Given the description of an element on the screen output the (x, y) to click on. 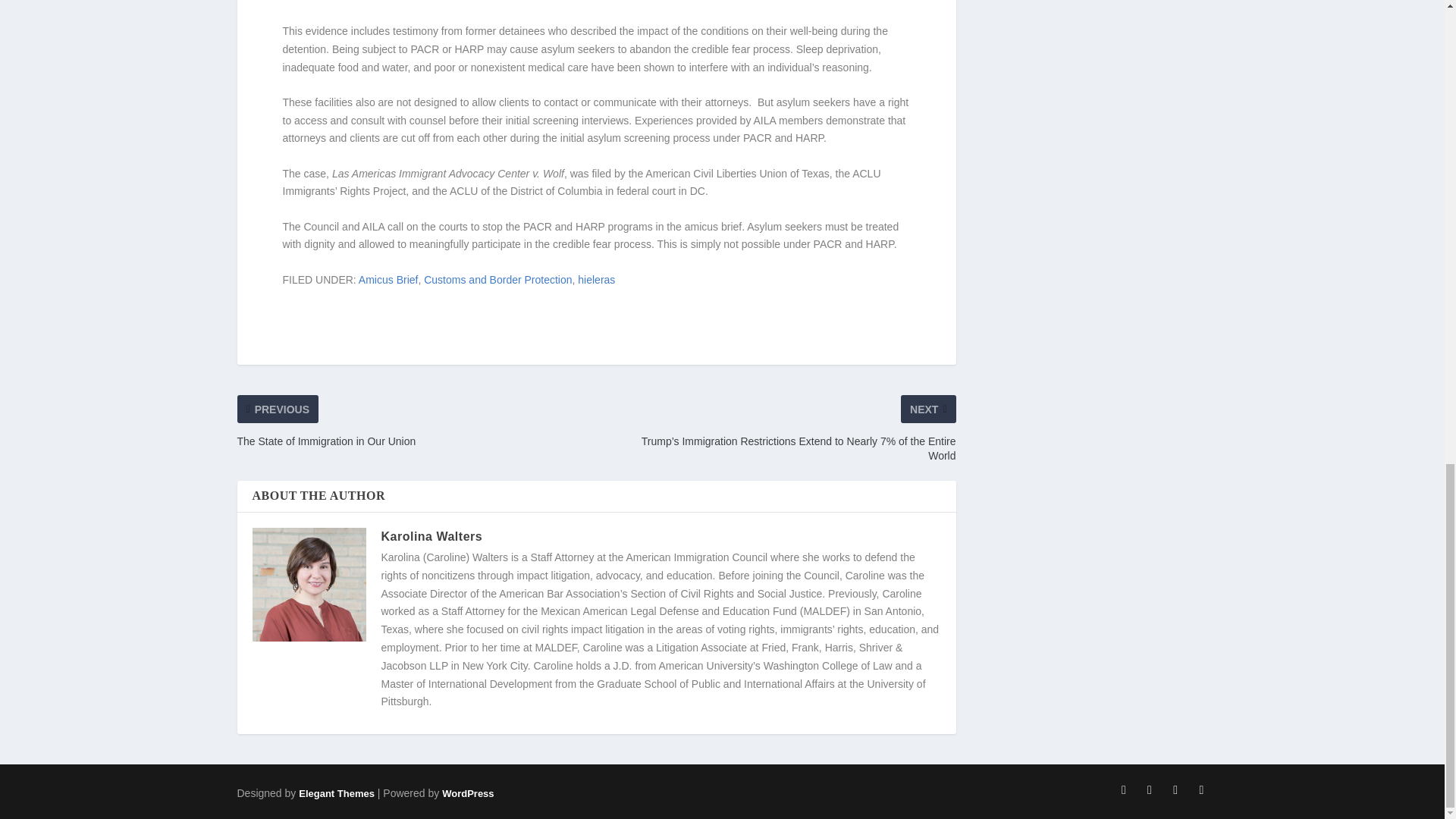
Amicus Brief (388, 279)
